Given the description of an element on the screen output the (x, y) to click on. 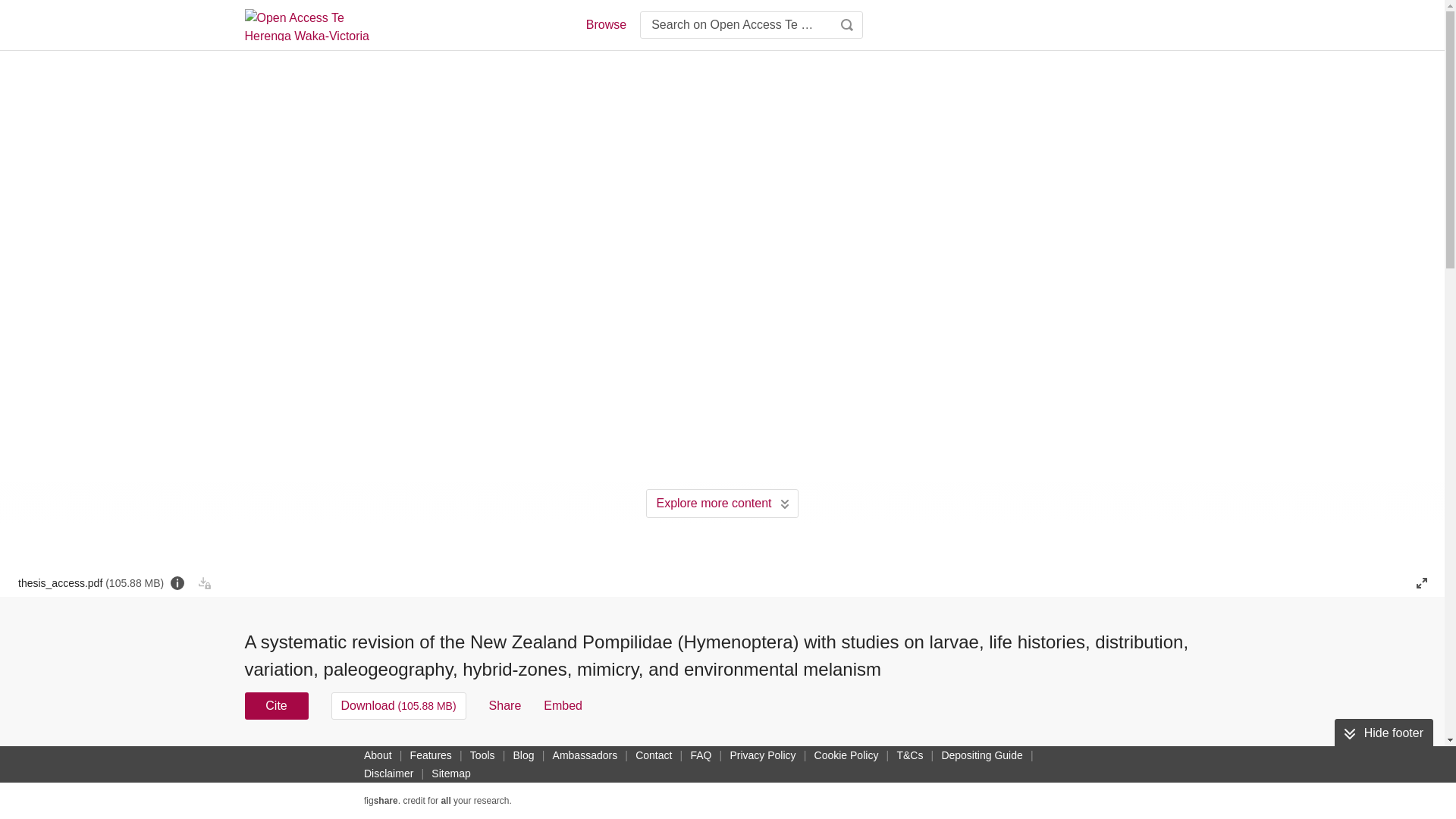
About (377, 755)
Tools (482, 755)
Share (505, 705)
Hide footer (1383, 733)
Browse (605, 24)
USAGE METRICS (976, 759)
Cite (275, 705)
Explore more content (721, 502)
Features (431, 755)
Embed (562, 705)
